Given the description of an element on the screen output the (x, y) to click on. 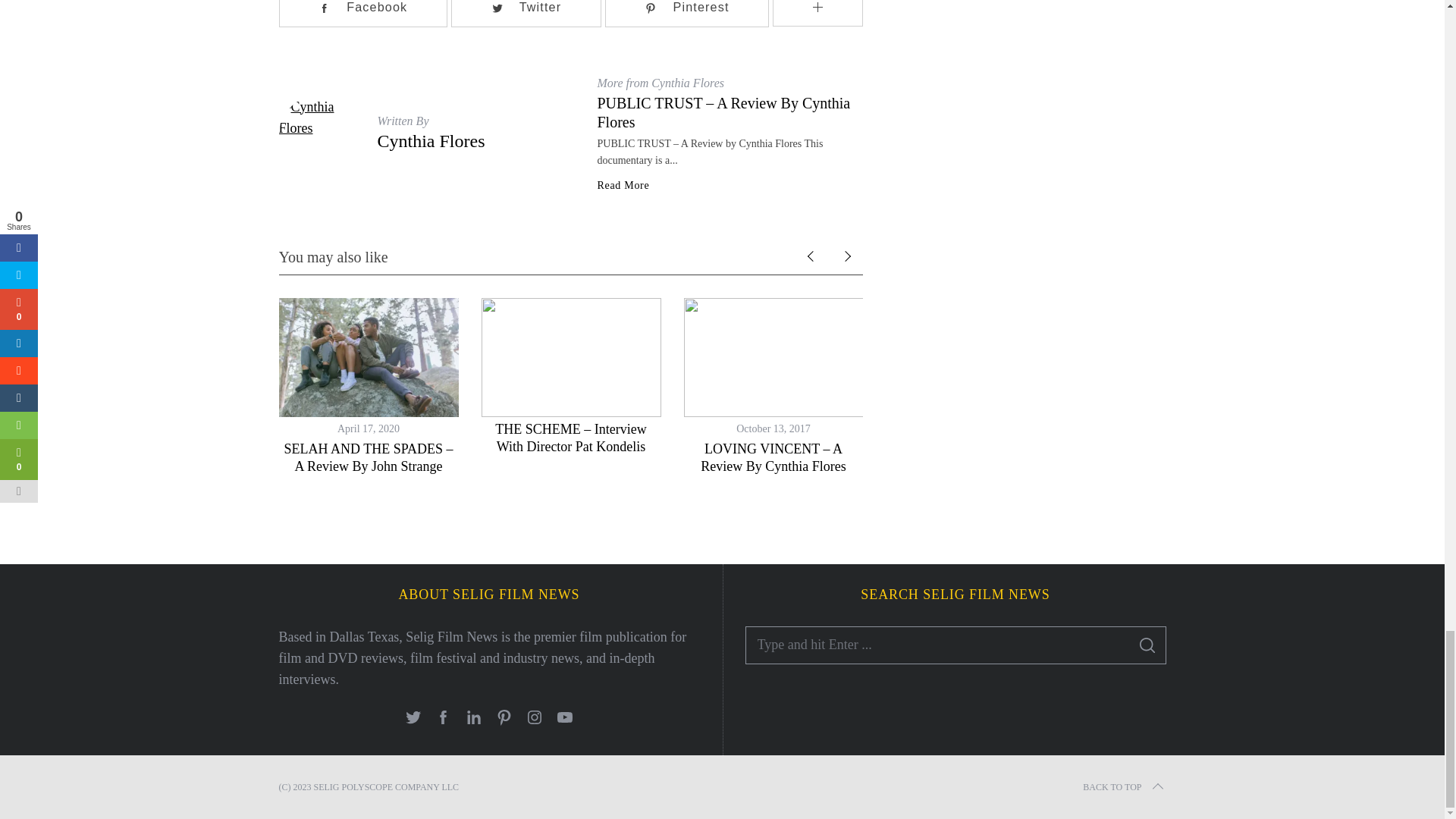
THE SCHEME - Interview with Director Pat Kondelis 4 (570, 357)
LOVING VINCENT - A Review by Cynthia Flores 5 (773, 357)
SELAH AND THE SPADES - A Review by John Strange 3 (368, 357)
